Given the description of an element on the screen output the (x, y) to click on. 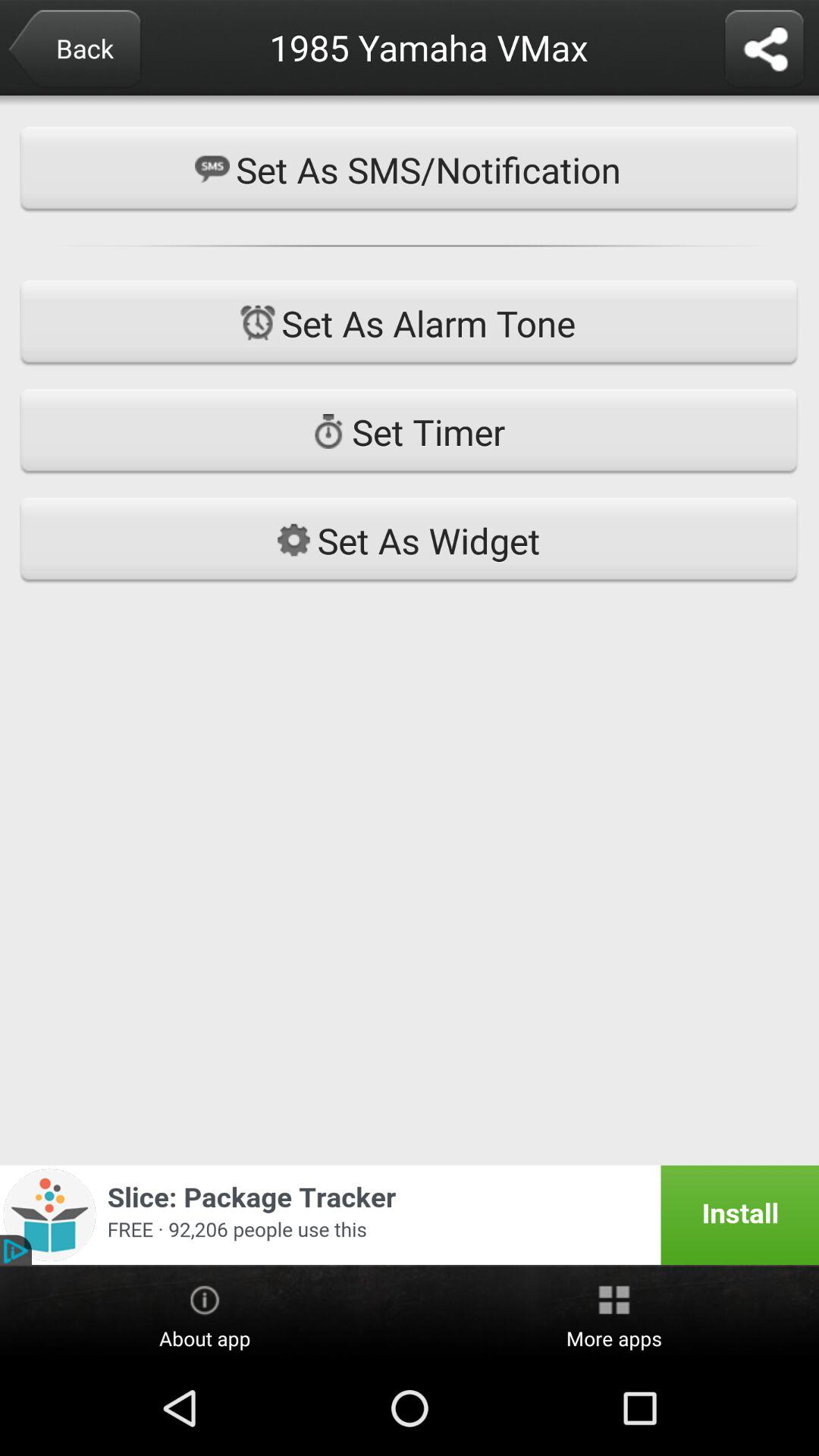
click the app to the right of 1985 yamaha vmax icon (764, 50)
